Given the description of an element on the screen output the (x, y) to click on. 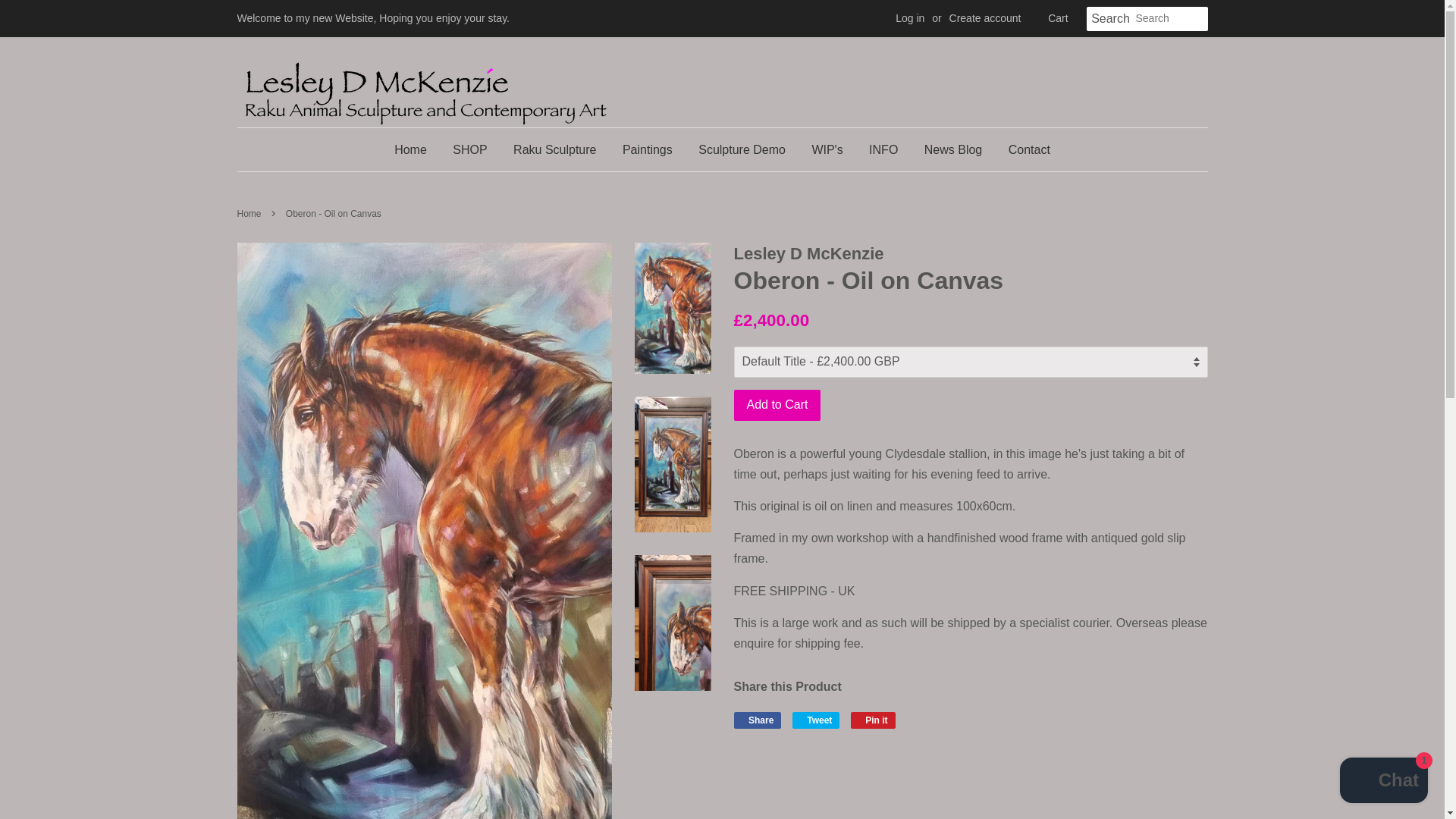
Create account (985, 18)
Tweet on Twitter (816, 719)
Home (416, 149)
Search (1110, 18)
Log in (909, 18)
Pin on Pinterest (872, 719)
SHOP (469, 149)
Back to the frontpage (249, 213)
Raku Sculpture (554, 149)
Shopify online store chat (1383, 781)
Cart (1057, 18)
Share on Facebook (757, 719)
